Given the description of an element on the screen output the (x, y) to click on. 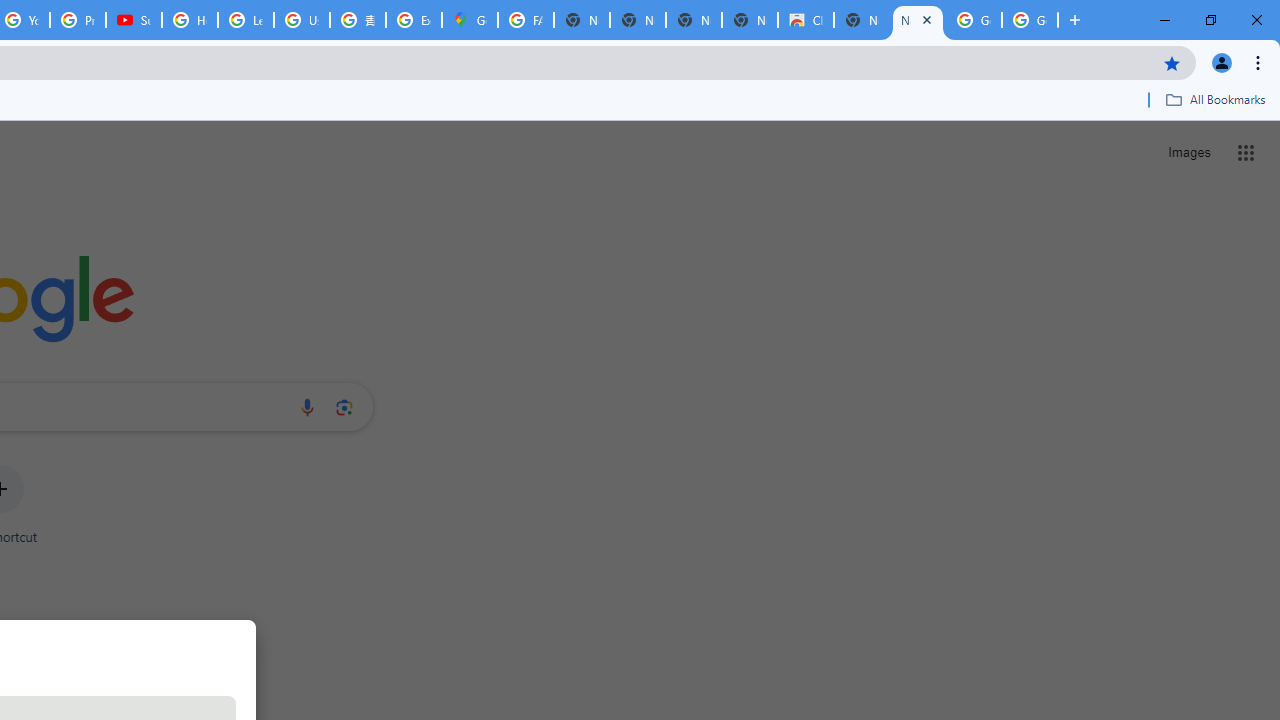
Explore new street-level details - Google Maps Help (413, 20)
How Chrome protects your passwords - Google Chrome Help (189, 20)
Google Images (1030, 20)
New Tab (917, 20)
Google Maps (469, 20)
Chrome Web Store (806, 20)
